Given the description of an element on the screen output the (x, y) to click on. 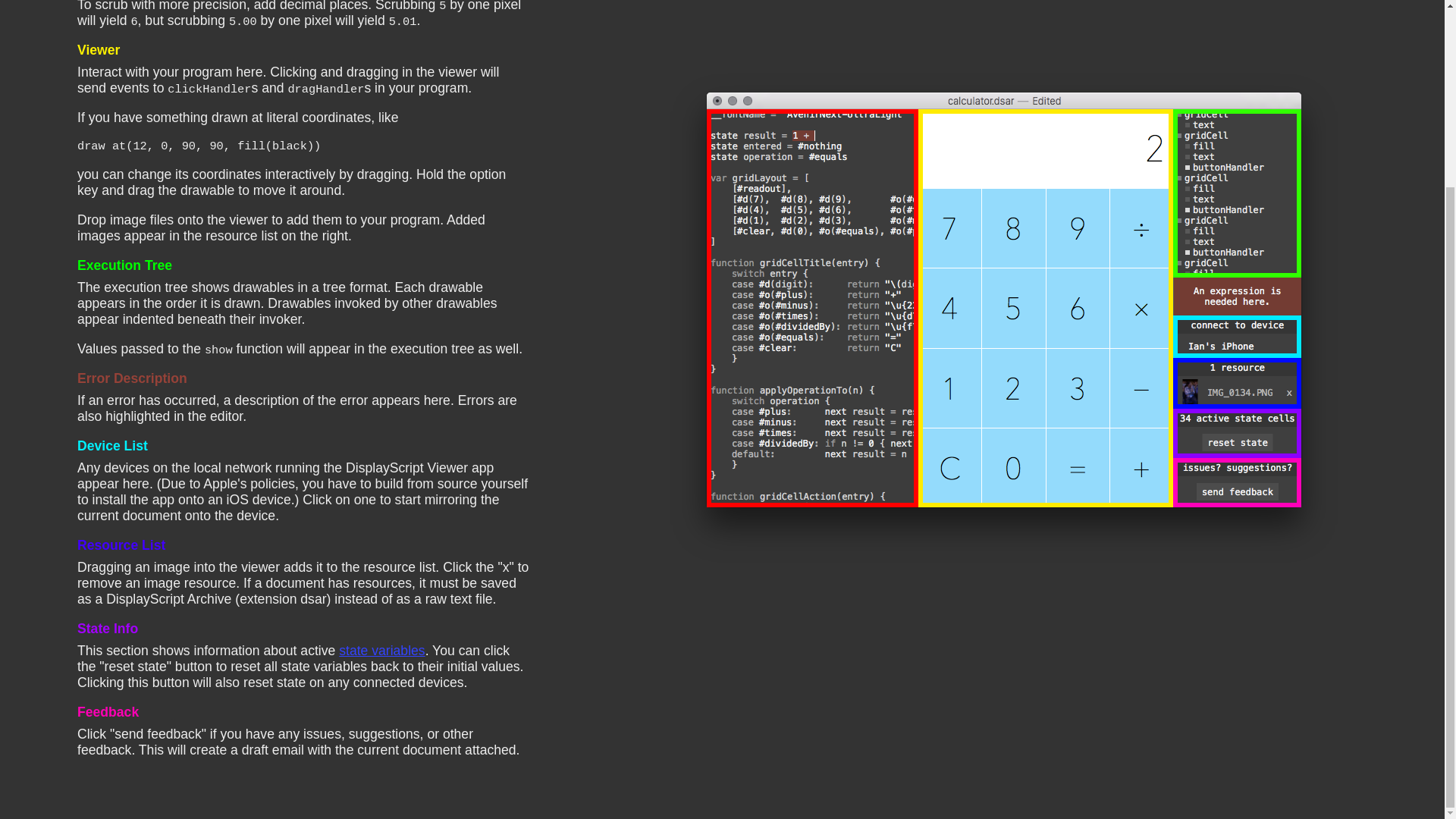
state variables (382, 650)
